Given the description of an element on the screen output the (x, y) to click on. 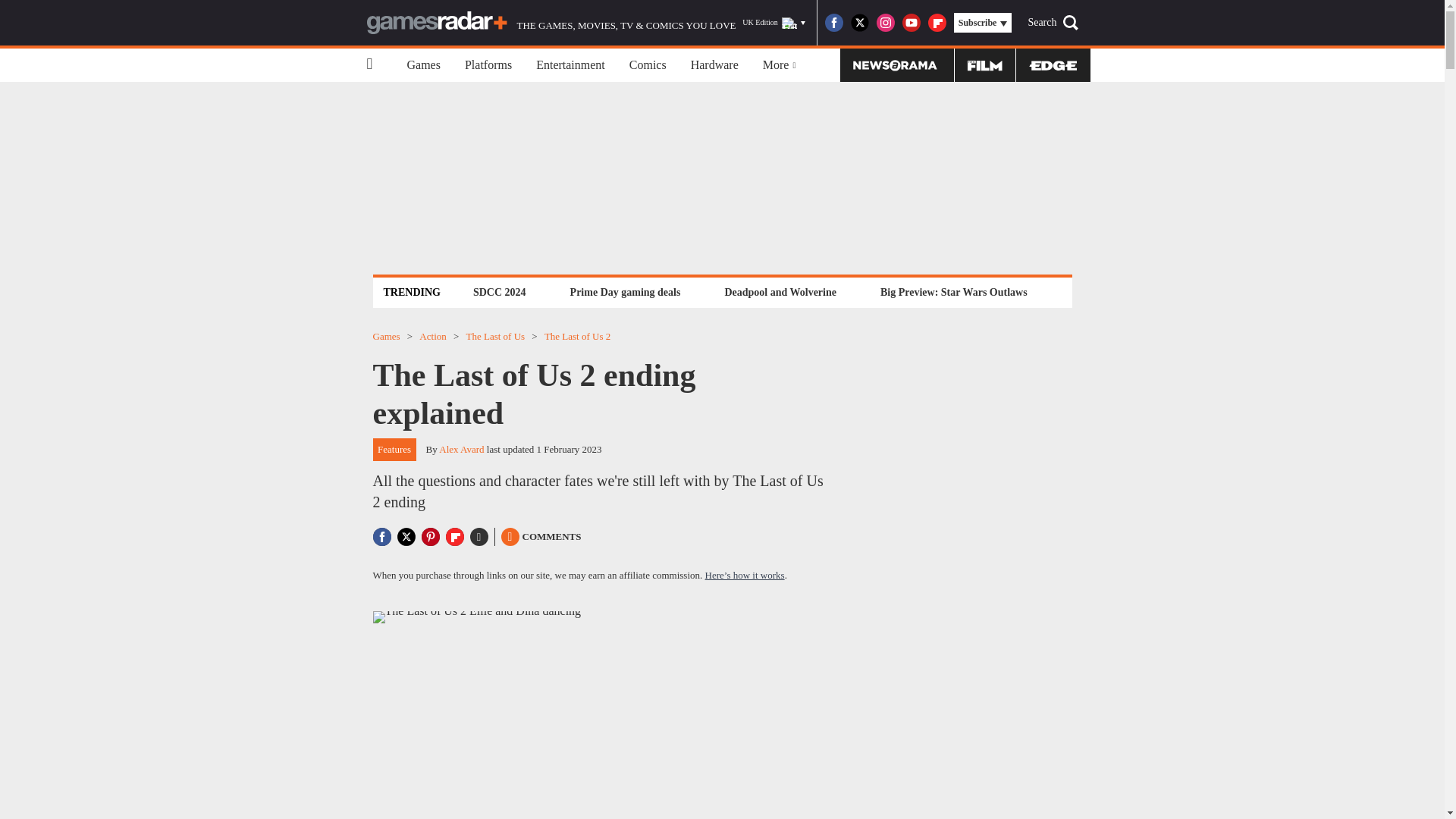
Hardware (714, 64)
Entertainment (570, 64)
Deadpool and Wolverine (780, 292)
Big Preview: Star Wars Outlaws (953, 292)
Platforms (488, 64)
Comics (647, 64)
Prime Day gaming deals (624, 292)
UK Edition (773, 22)
SDCC 2024 (499, 292)
Games (422, 64)
